Given the description of an element on the screen output the (x, y) to click on. 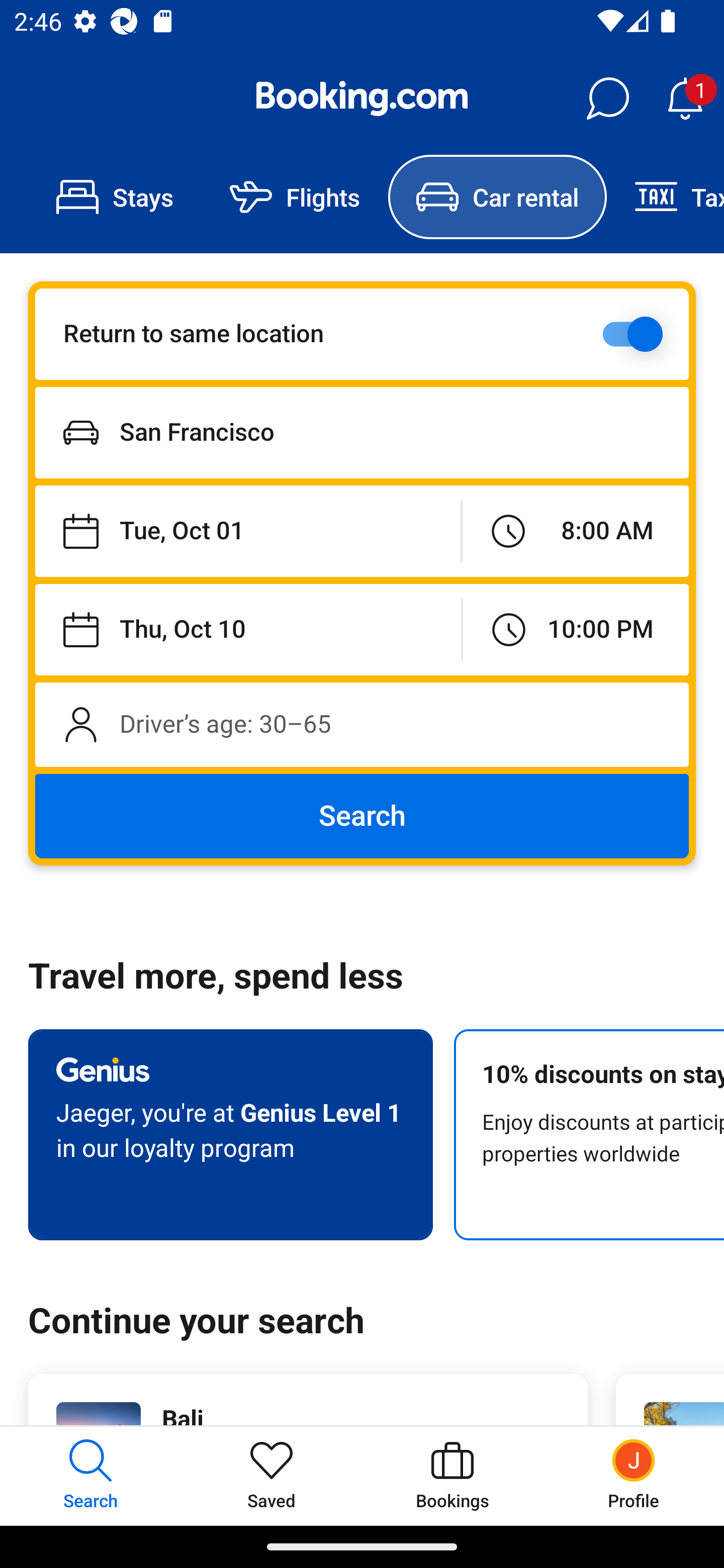
Messages (607, 98)
Notifications (685, 98)
Stays (114, 197)
Flights (294, 197)
Car rental (497, 197)
Taxi (665, 197)
Pick-up location: Text(name=San Francisco) (361, 432)
Pick-up date: 2024-10-01 (247, 531)
Pick-up time: 08:00:00.000 (575, 531)
Drop-off date: 2024-10-10 (248, 629)
Drop-off time: 22:00:00.000 (575, 629)
Enter the driver's age (361, 724)
Search (361, 815)
Saved (271, 1475)
Bookings (452, 1475)
Profile (633, 1475)
